Given the description of an element on the screen output the (x, y) to click on. 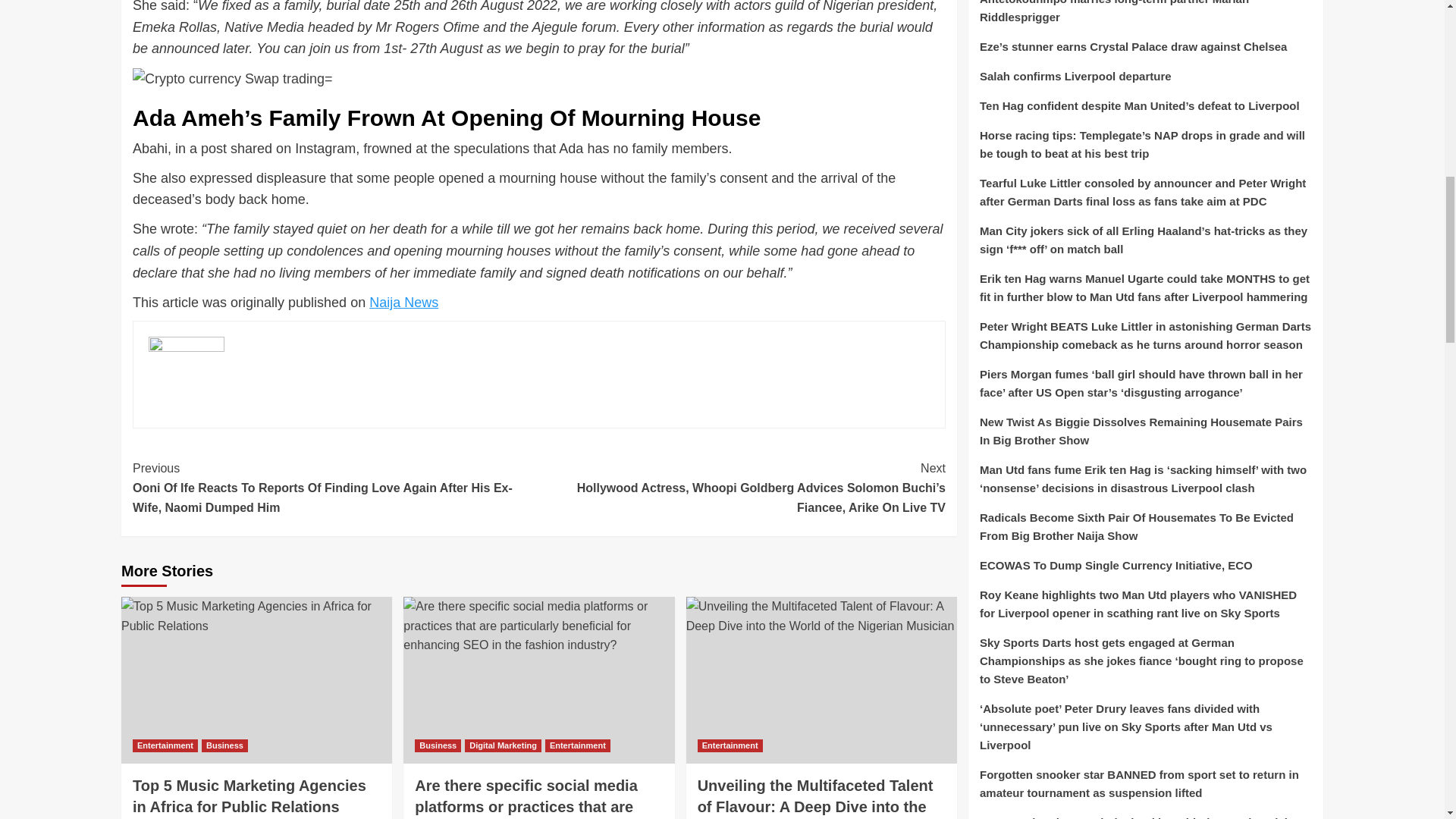
Entertainment (729, 745)
Naija News (403, 302)
Entertainment (577, 745)
Business (437, 745)
Entertainment (165, 745)
